Given the description of an element on the screen output the (x, y) to click on. 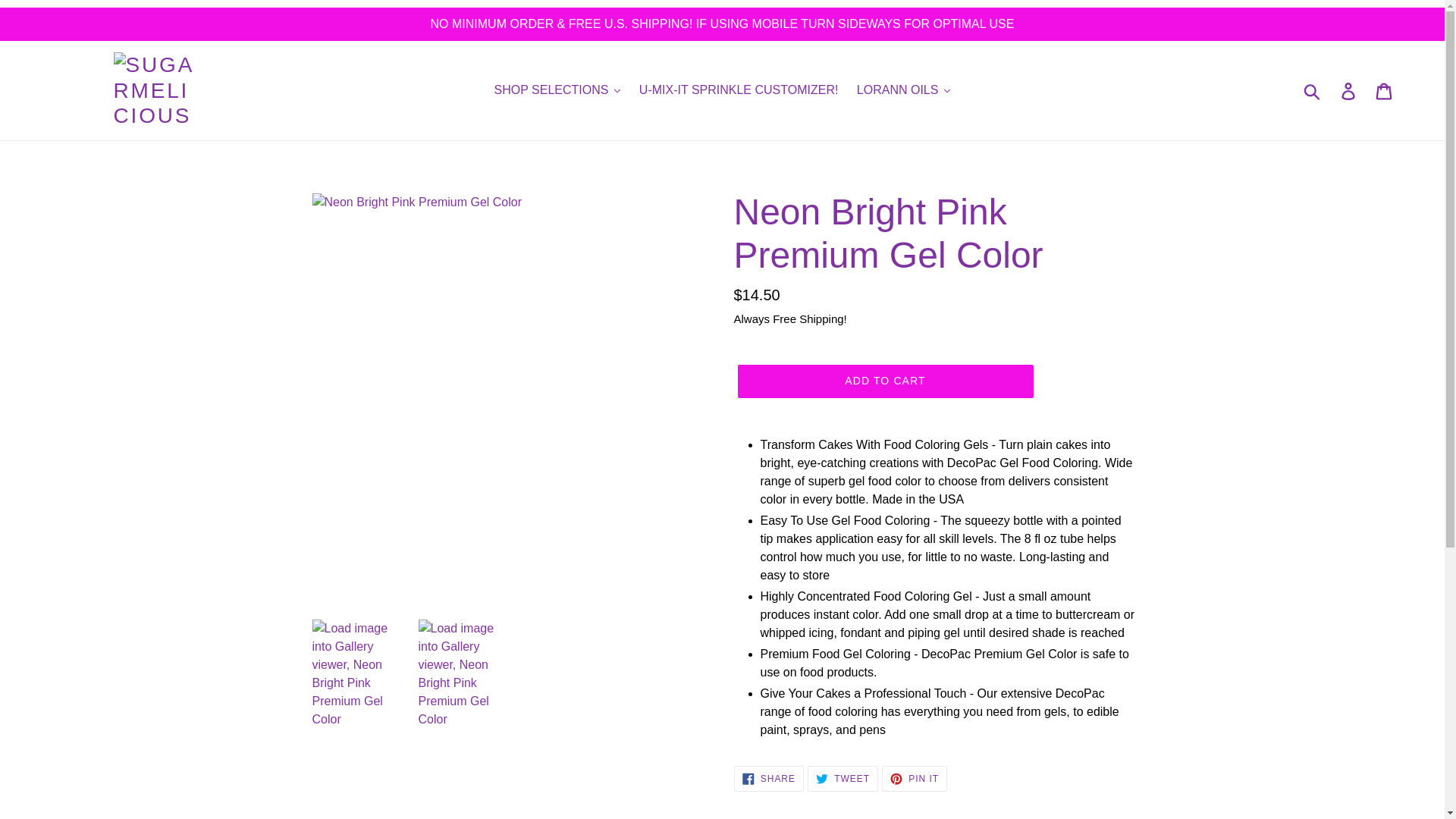
U-MIX-IT SPRINKLE CUSTOMIZER! (738, 89)
